Given the description of an element on the screen output the (x, y) to click on. 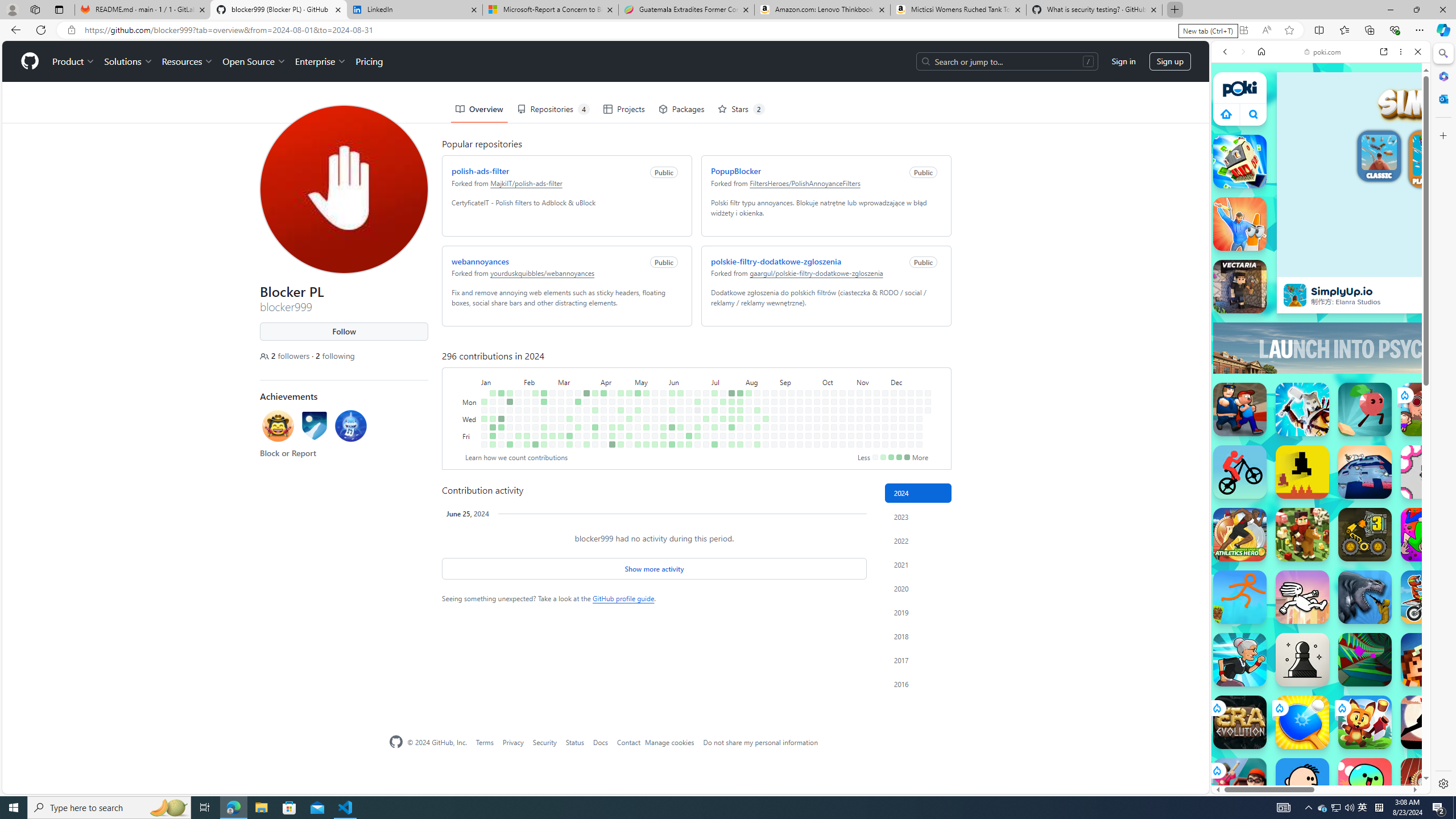
1 contribution on July 23rd. (731, 410)
No contributions on June 7th. (671, 435)
poki.com (1322, 51)
2023 (917, 516)
5 contributions on February 18th. (543, 392)
No contributions on December 5th. (893, 427)
No contributions on November 9th. (859, 444)
Eat the world (1427, 409)
Athletics Hero (1239, 534)
Do not share my personal information (760, 741)
2016 (917, 683)
Vectaria.io Vectaria.io (1239, 286)
No contributions on October 22nd. (842, 410)
